Given the description of an element on the screen output the (x, y) to click on. 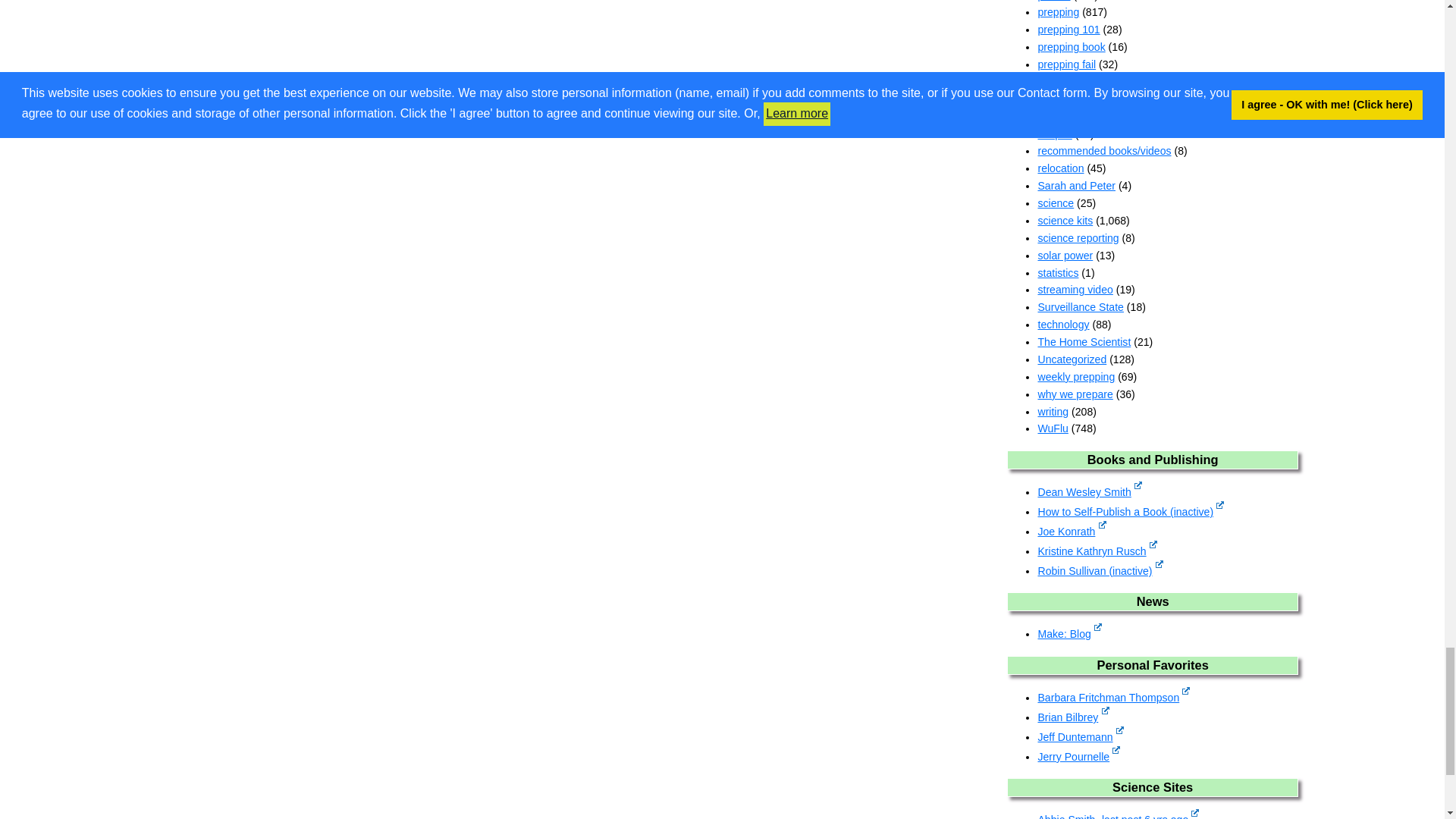
Writer site, comments about publishing industry (1070, 531)
Personal blog (1072, 717)
Last updated 5 yrs ago (1130, 511)
